Given the description of an element on the screen output the (x, y) to click on. 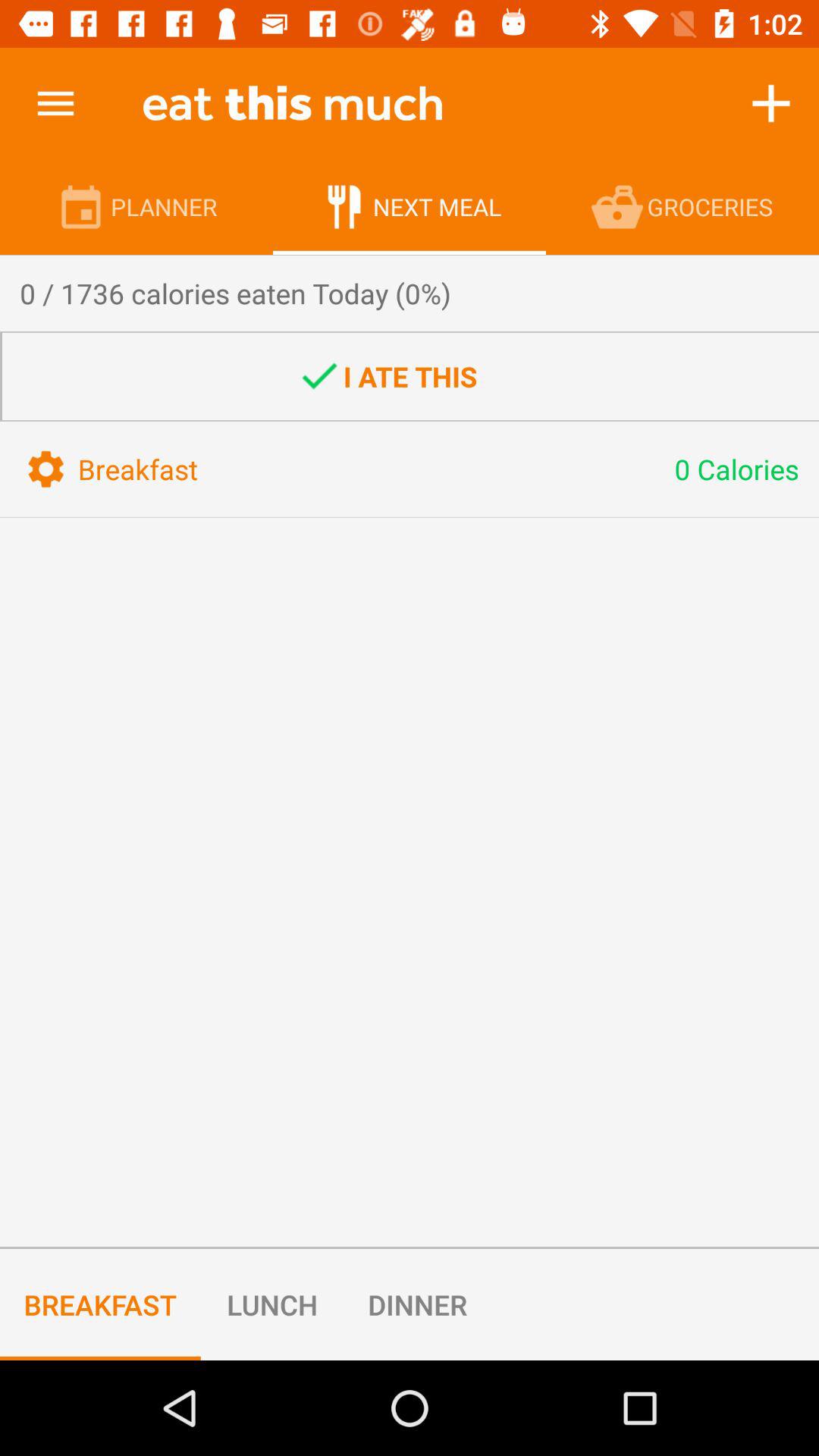
turn on the icon above the groceries (771, 103)
